Given the description of an element on the screen output the (x, y) to click on. 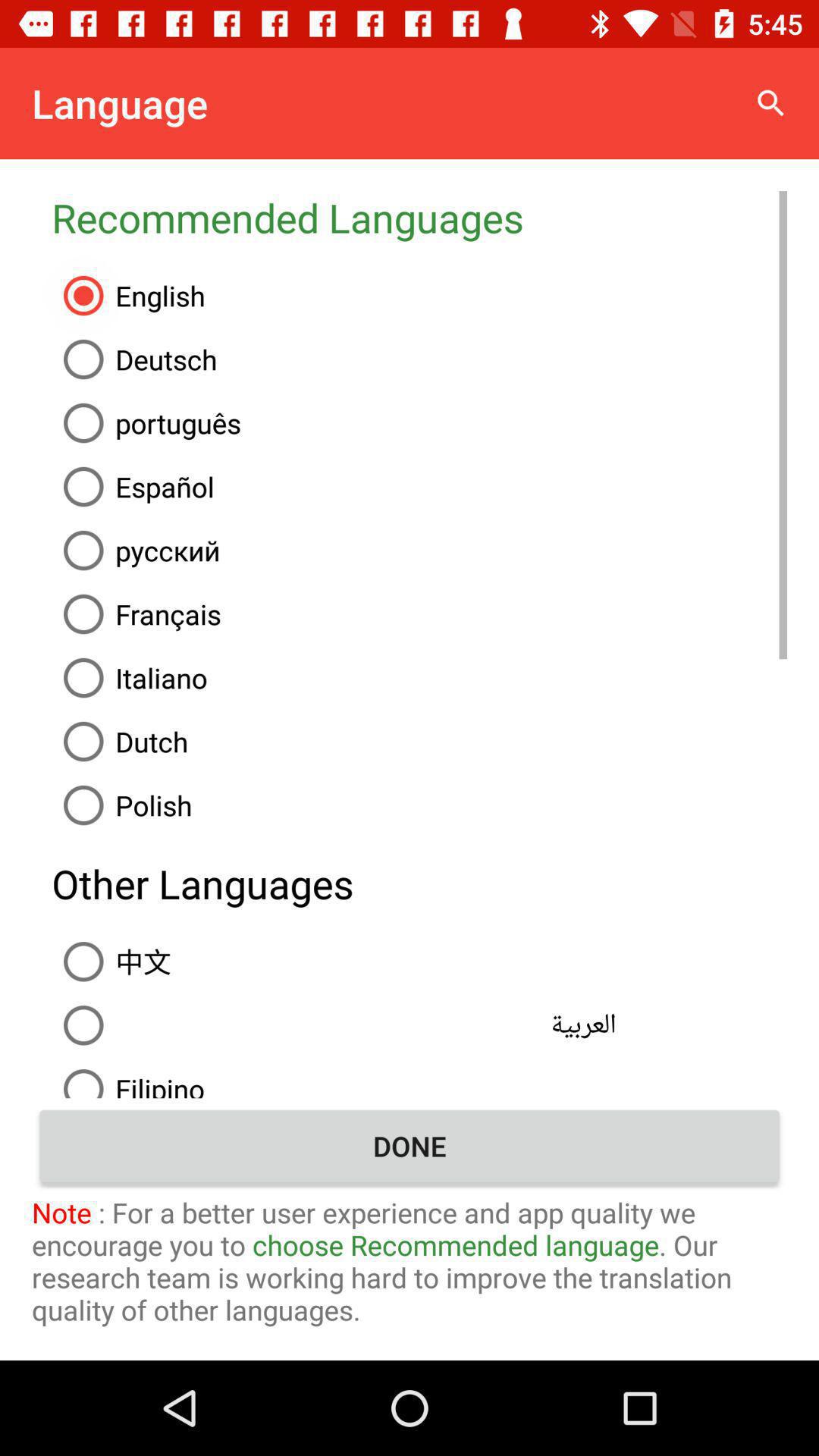
scroll until deutsch item (419, 359)
